Given the description of an element on the screen output the (x, y) to click on. 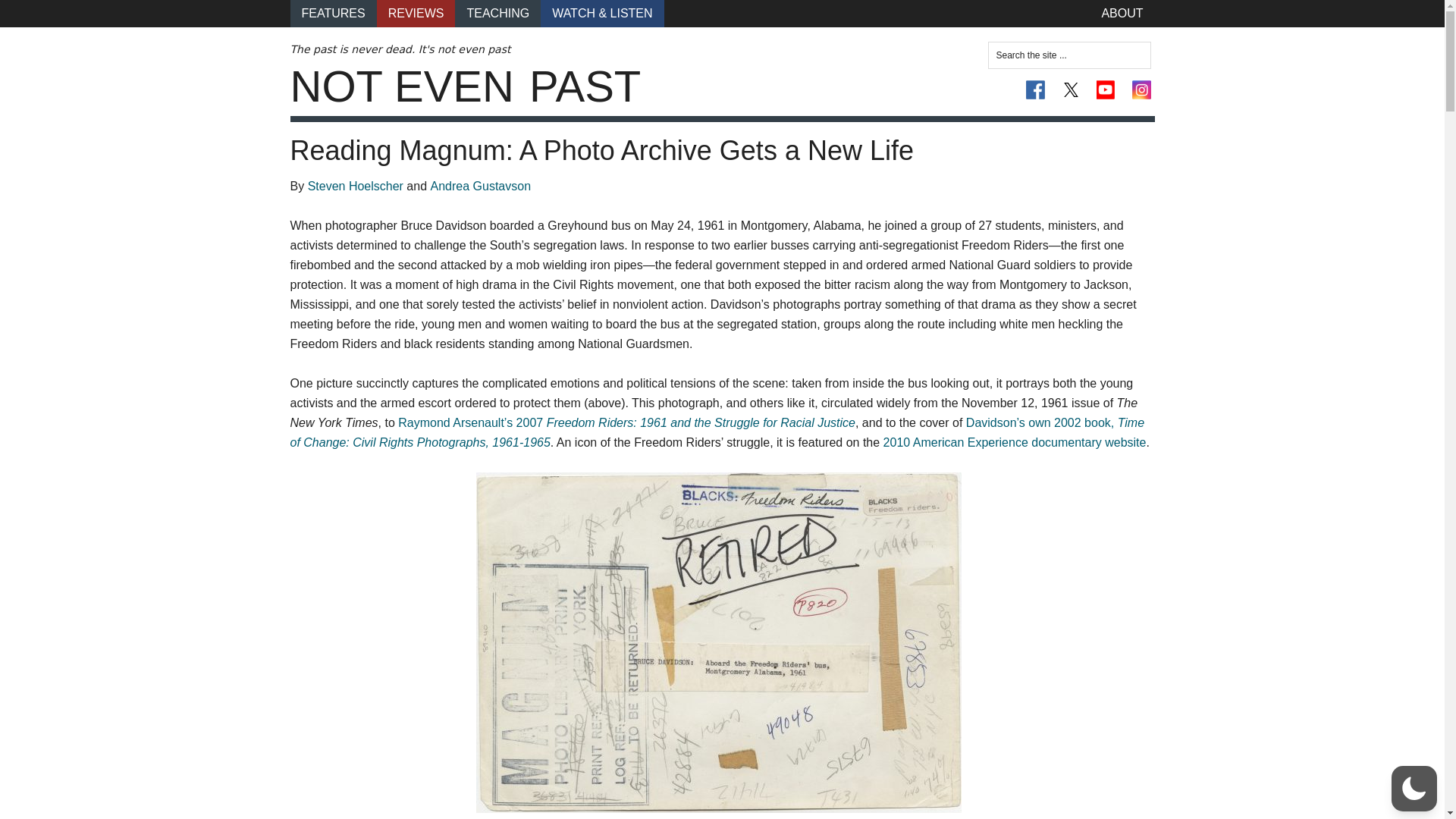
NOT EVEN PAST (464, 85)
YouTube Channel (1105, 89)
On Twitter (1070, 89)
FEATURES (332, 13)
REVIEWS (416, 13)
ABOUT (1121, 13)
On Facebook (1035, 89)
Reading Magnum: A Photo Archive Gets a New Life (600, 150)
Instagram (1140, 89)
Andrea Gustavson (480, 185)
2010 American Experience documentary website (1015, 441)
Steven Hoelscher (355, 185)
TEACHING (497, 13)
